Given the description of an element on the screen output the (x, y) to click on. 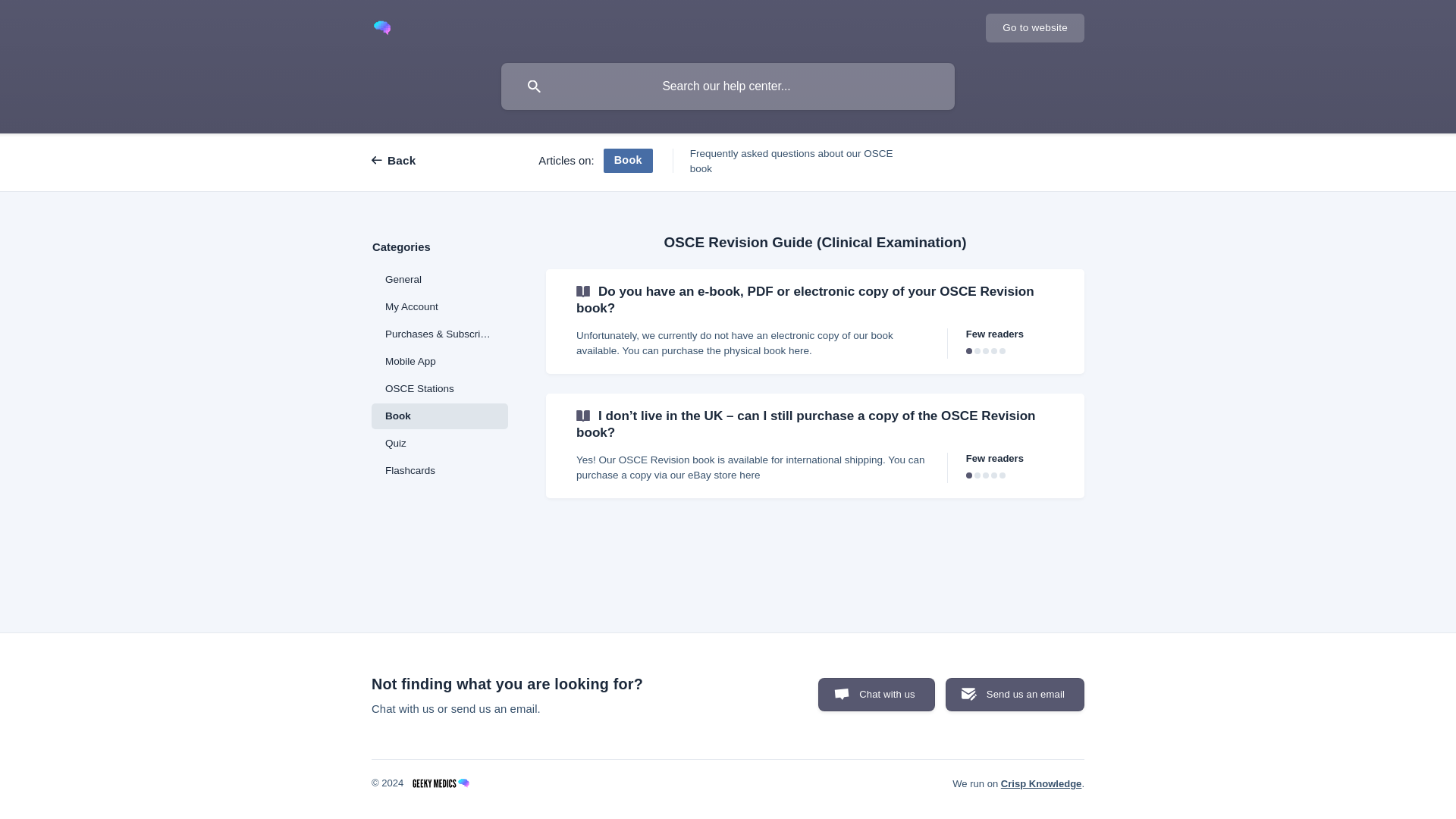
Send us an email (1014, 694)
Back (406, 160)
Book (439, 416)
OSCE Stations (439, 388)
Flashcards (439, 470)
My Account (439, 307)
Chat with us (876, 694)
Mobile App (439, 361)
Crisp Knowledge (1041, 783)
